Given the description of an element on the screen output the (x, y) to click on. 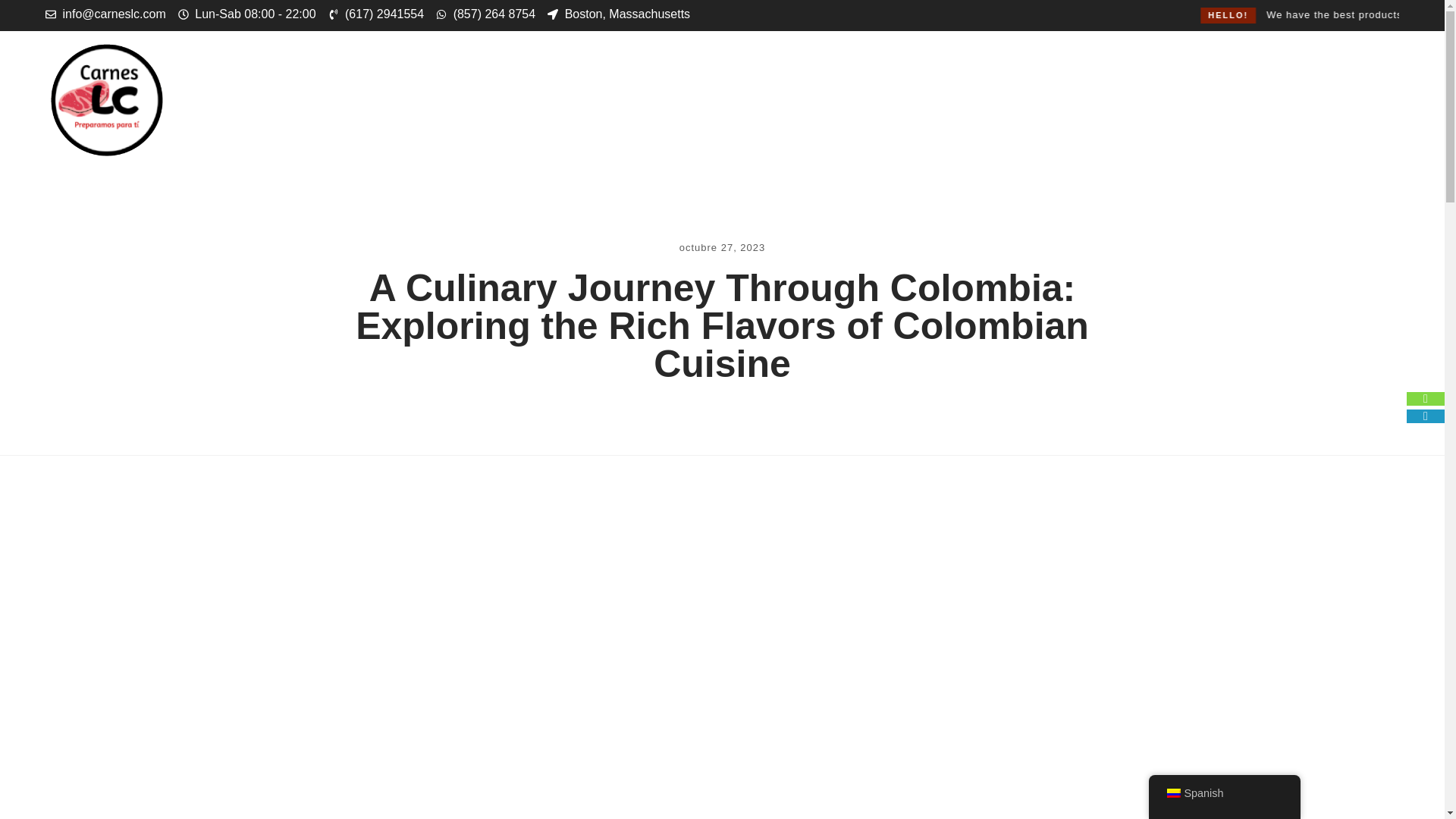
Contacto (965, 99)
Logo-LC (106, 99)
Nosotros (780, 99)
Servicios (673, 99)
Spanish (1224, 792)
Home (464, 99)
Productos (563, 99)
Blog (873, 99)
Cart (1346, 101)
Spanish (1172, 792)
